Given the description of an element on the screen output the (x, y) to click on. 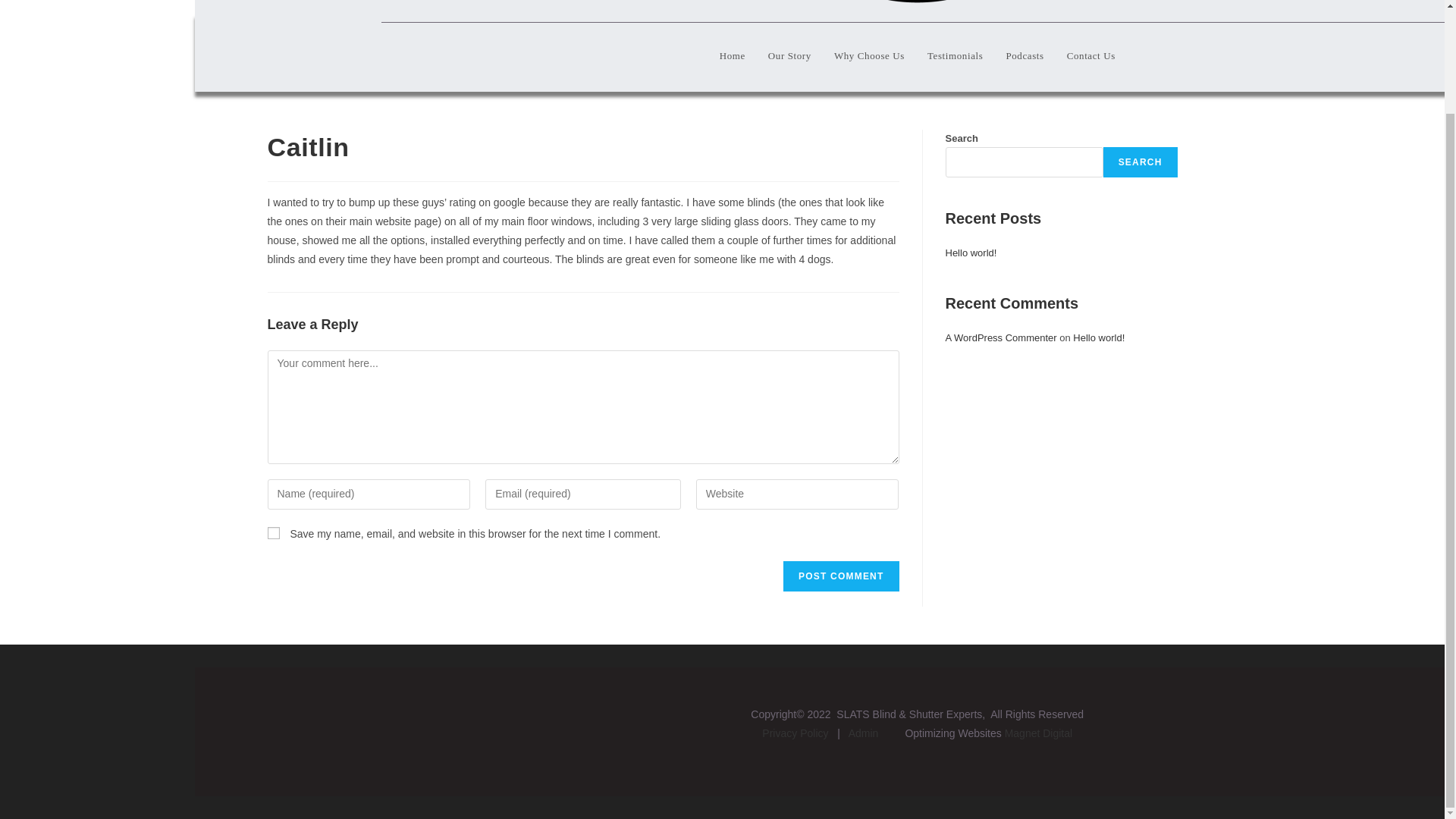
A WordPress Commenter (1000, 337)
Why Choose Us (868, 55)
Magnet Digital (1038, 733)
yes (272, 532)
Our Story (789, 55)
Post Comment (840, 576)
Podcasts (1024, 55)
Hello world! (1098, 337)
Admin (863, 733)
Post Comment (840, 576)
Testimonials (954, 55)
Contact Us (1090, 55)
Hello world! (969, 252)
SEARCH (1140, 162)
Privacy Policy (794, 733)
